Given the description of an element on the screen output the (x, y) to click on. 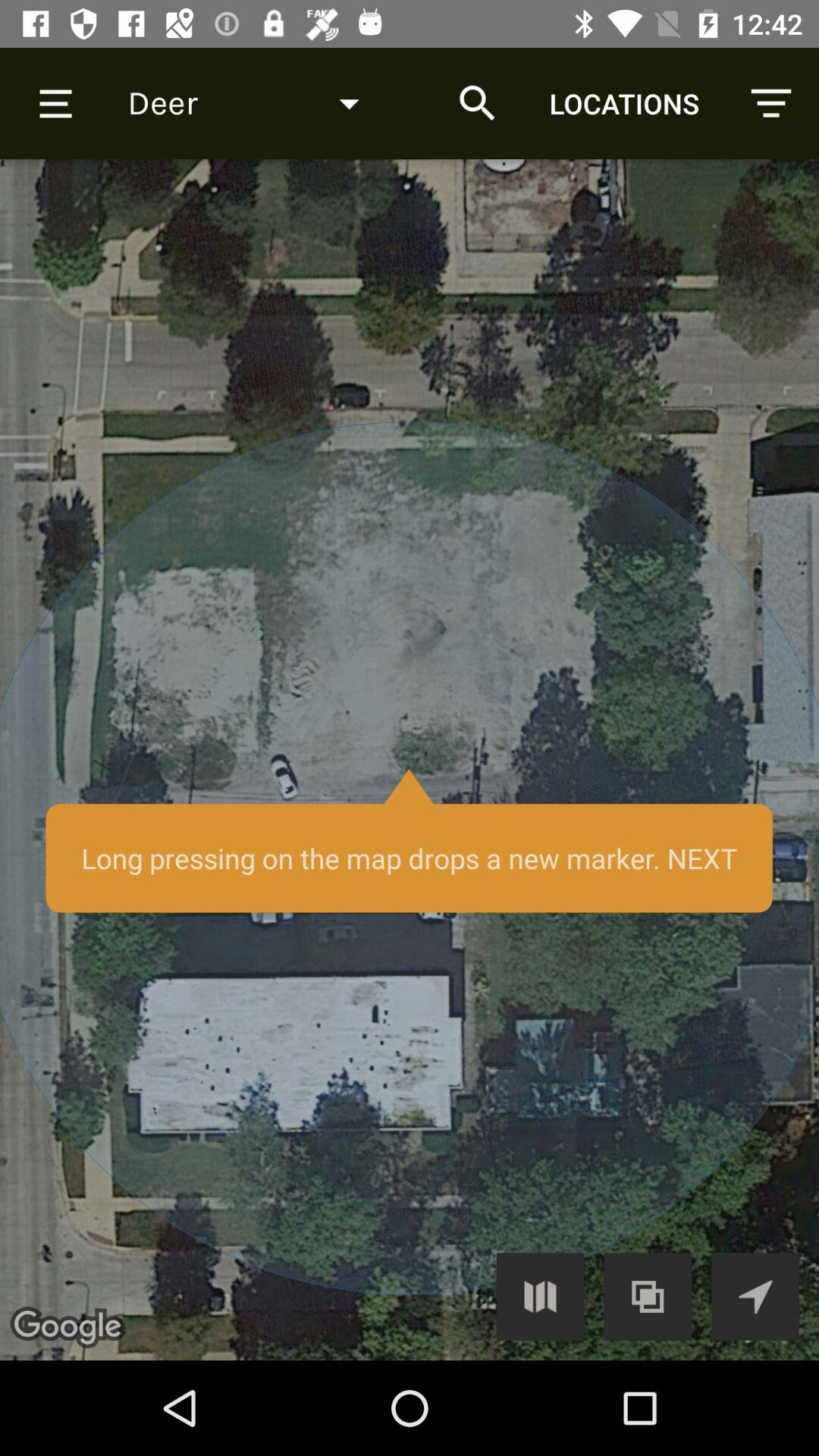
mark location (409, 759)
